Given the description of an element on the screen output the (x, y) to click on. 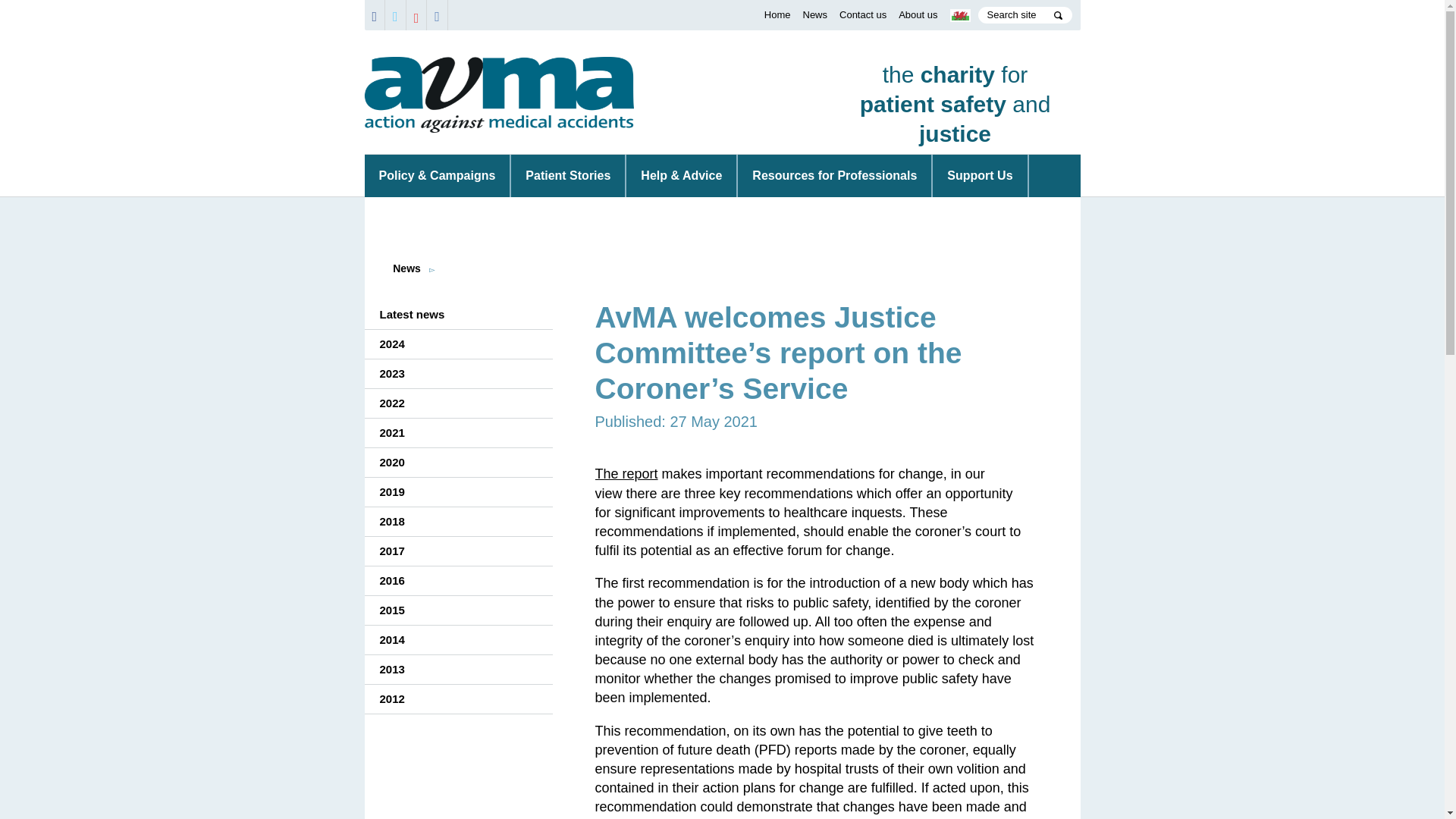
Patient Stories (567, 175)
About us (917, 14)
Home (777, 14)
Go (1058, 14)
News (814, 14)
Contact us (863, 14)
Resources for Professionals (954, 102)
Go (834, 175)
